Given the description of an element on the screen output the (x, y) to click on. 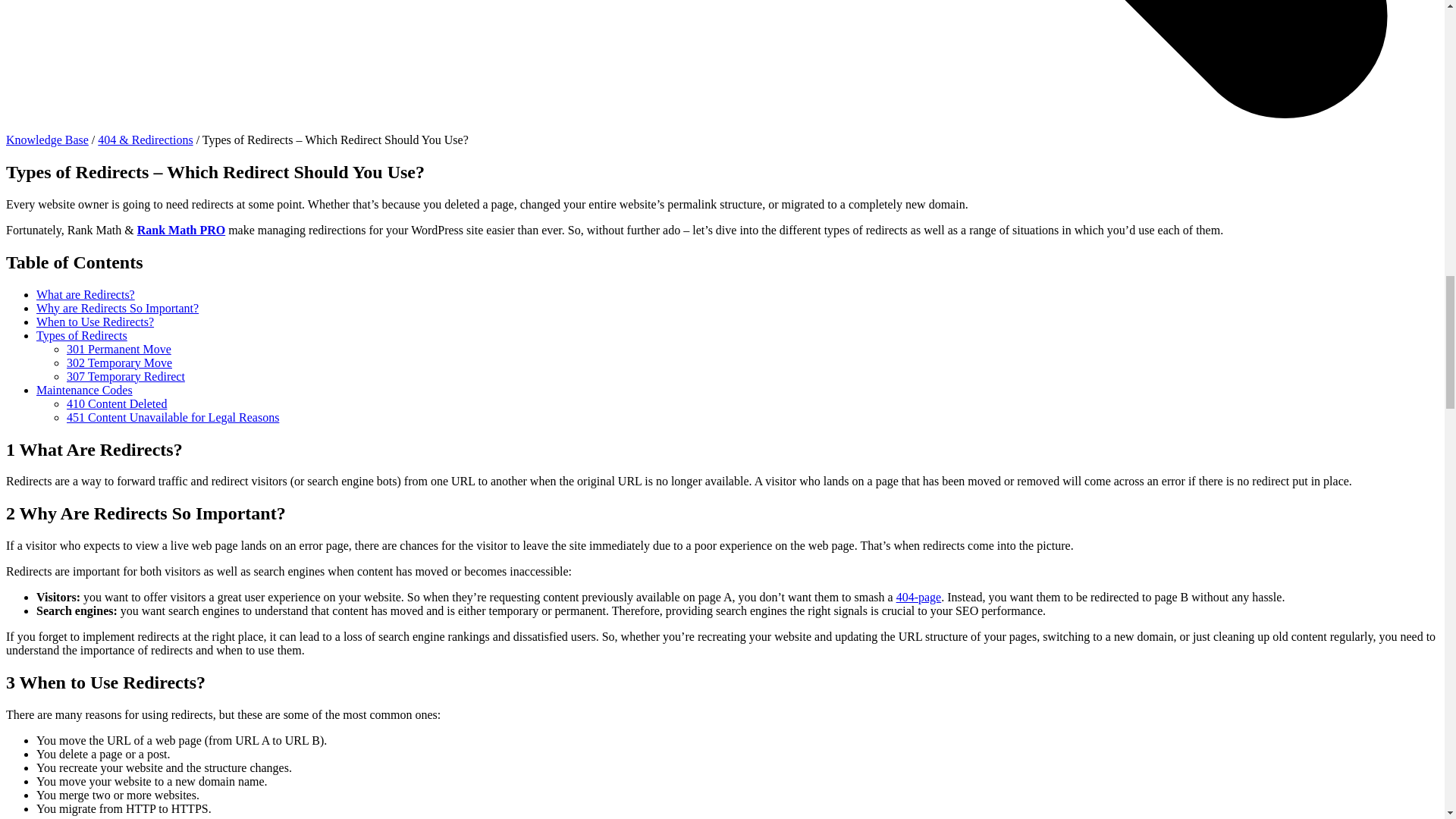
What are Redirects? (85, 294)
307 Temporary Redirect (125, 376)
451 Content Unavailable for Legal Reasons (172, 417)
301 Permanent Move (118, 349)
410 Content Deleted (116, 403)
Knowledge Base (46, 139)
Rank Math PRO (180, 229)
404-page (919, 596)
302 Temporary Move (118, 362)
Why are Redirects So Important? (117, 308)
